Given the description of an element on the screen output the (x, y) to click on. 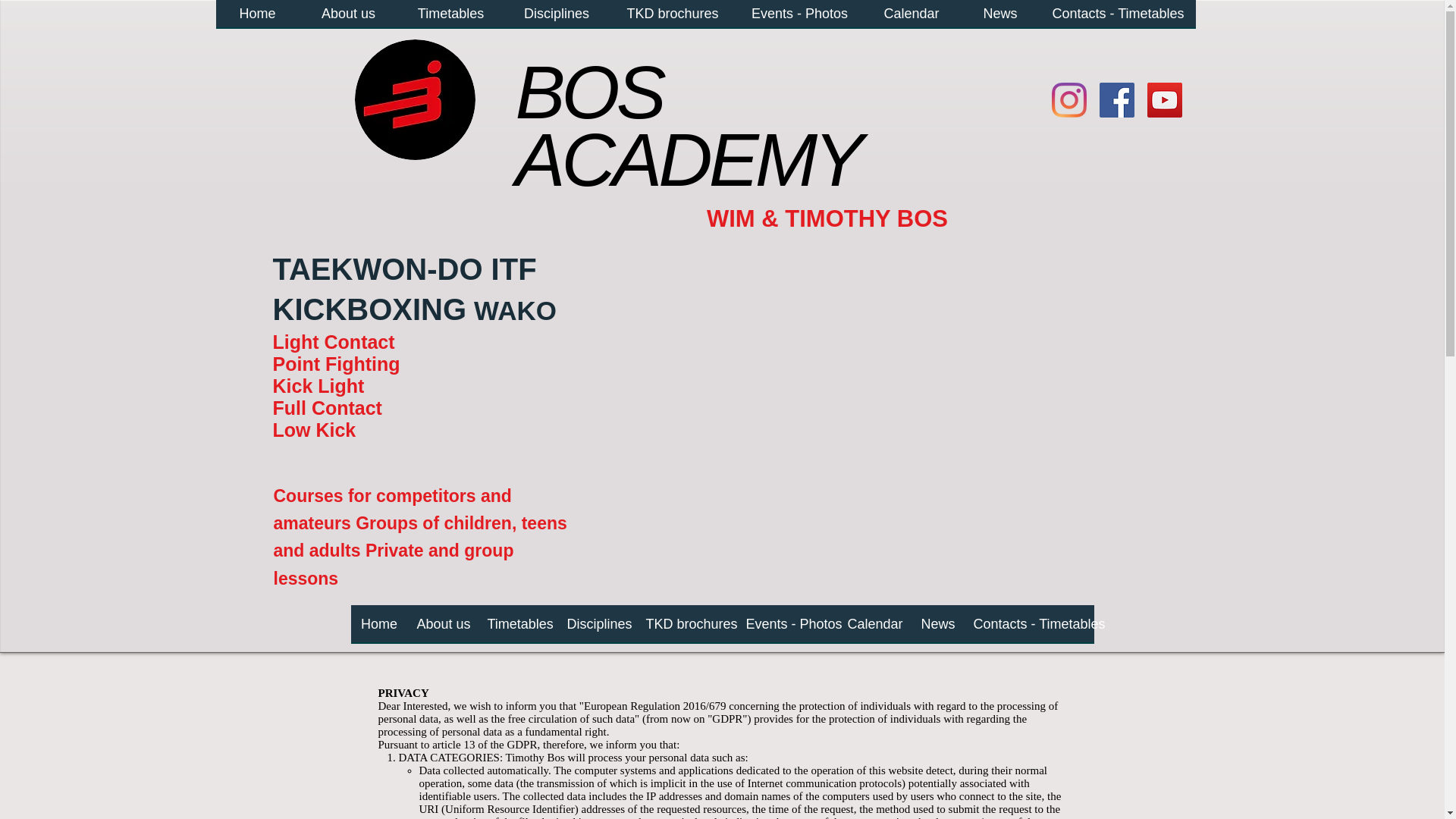
News (937, 628)
Home (256, 18)
News (1000, 18)
Timetables (519, 628)
Timetables (450, 18)
TKD brochures (673, 18)
TKD brochures (688, 628)
Calendar (911, 18)
Calendar (875, 628)
Contacts - Timetables (1118, 18)
Contacts - Timetables (1030, 628)
Home (378, 628)
